Given the description of an element on the screen output the (x, y) to click on. 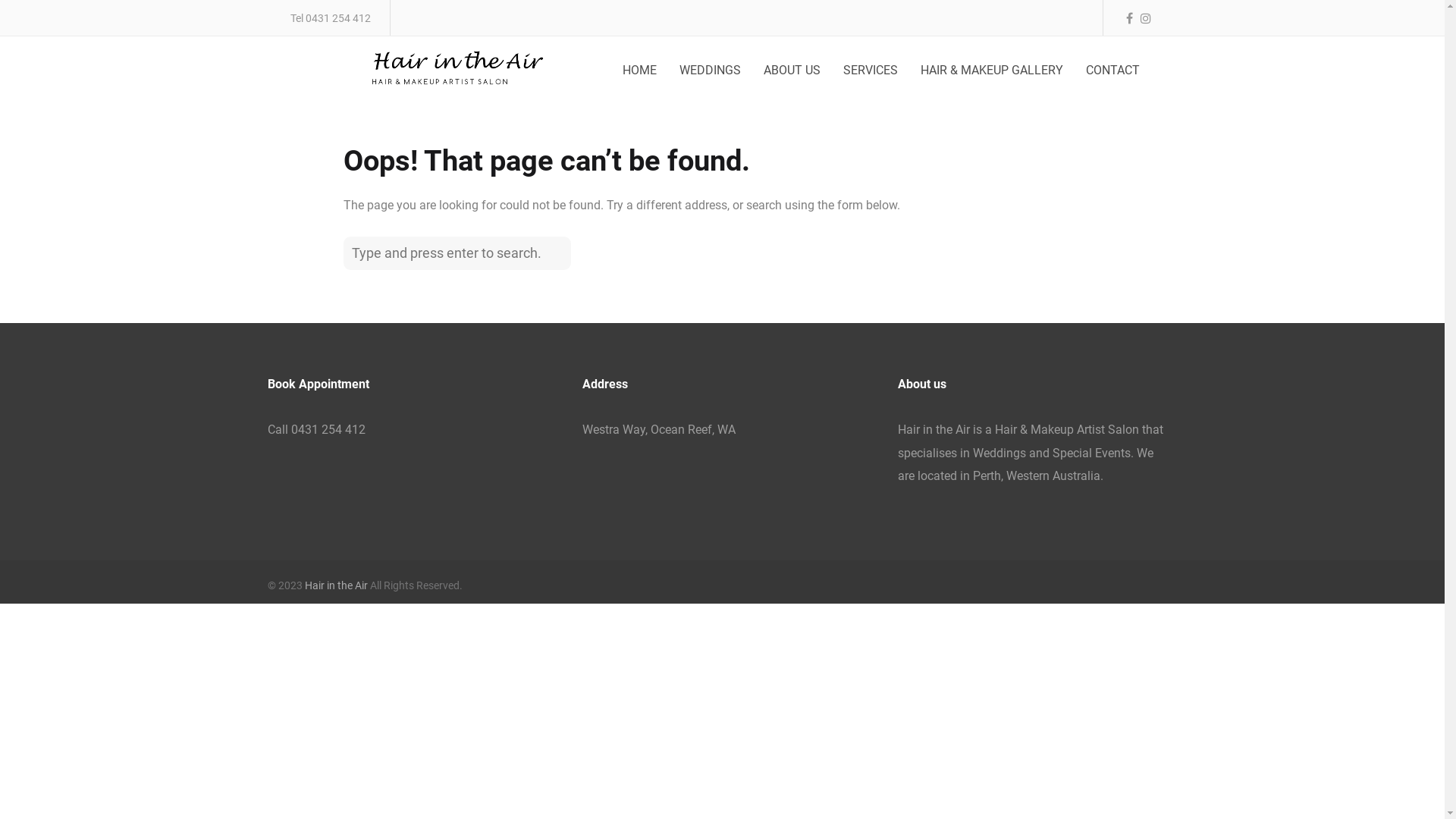
WEDDINGS Element type: text (709, 70)
SERVICES Element type: text (869, 70)
Hair in the Air Element type: text (335, 585)
HAIR & MAKEUP GALLERY Element type: text (990, 70)
CONTACT Element type: text (1111, 70)
ABOUT US Element type: text (791, 70)
HOME Element type: text (639, 70)
Tel 0431 254 412 Element type: text (329, 18)
